Given the description of an element on the screen output the (x, y) to click on. 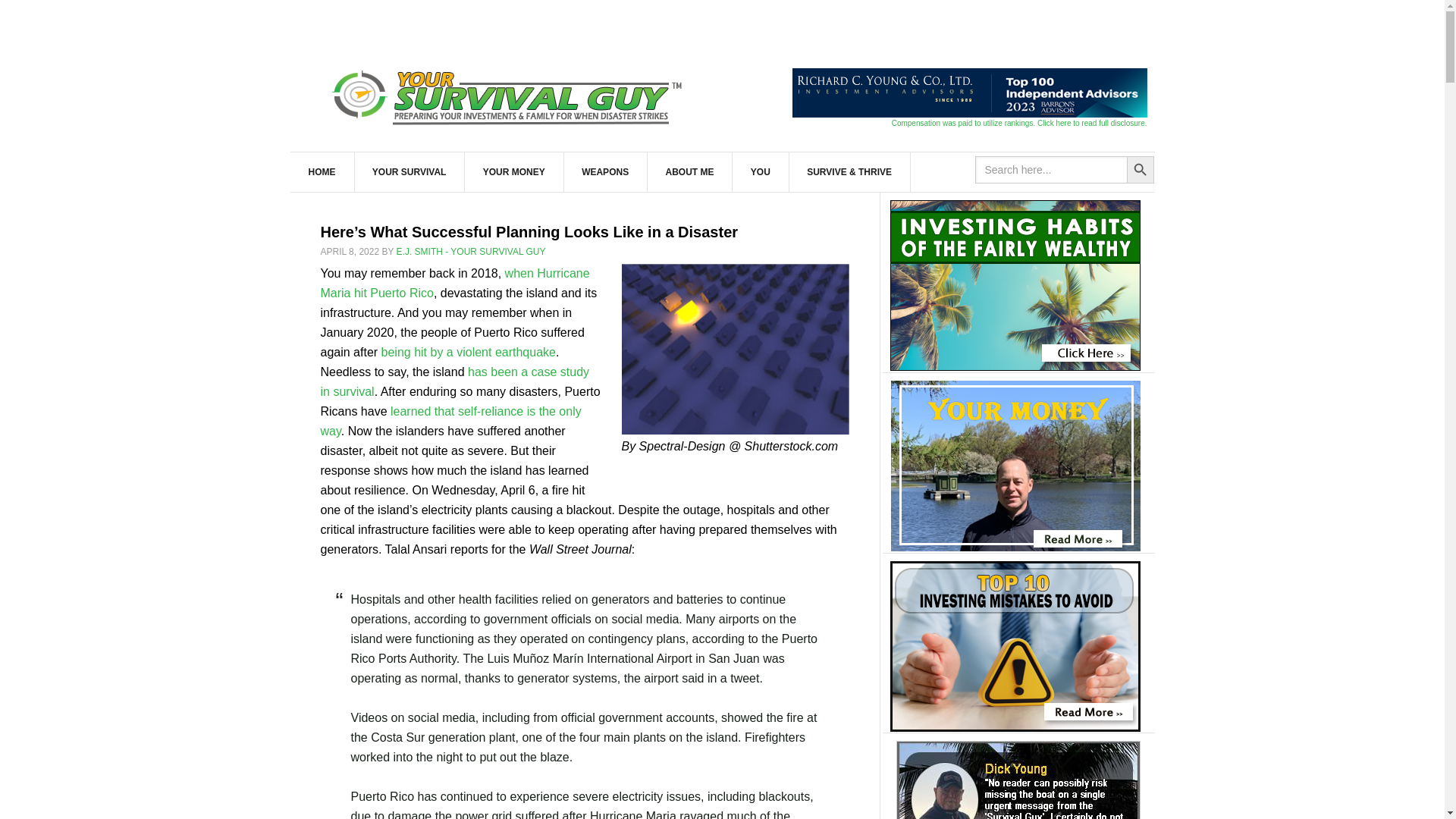
WEAPONS (605, 171)
YOUR MONEY (514, 171)
YOUR SURVIVAL (409, 171)
HOME (321, 171)
YOUR SURVIVAL GUY (509, 94)
